Given the description of an element on the screen output the (x, y) to click on. 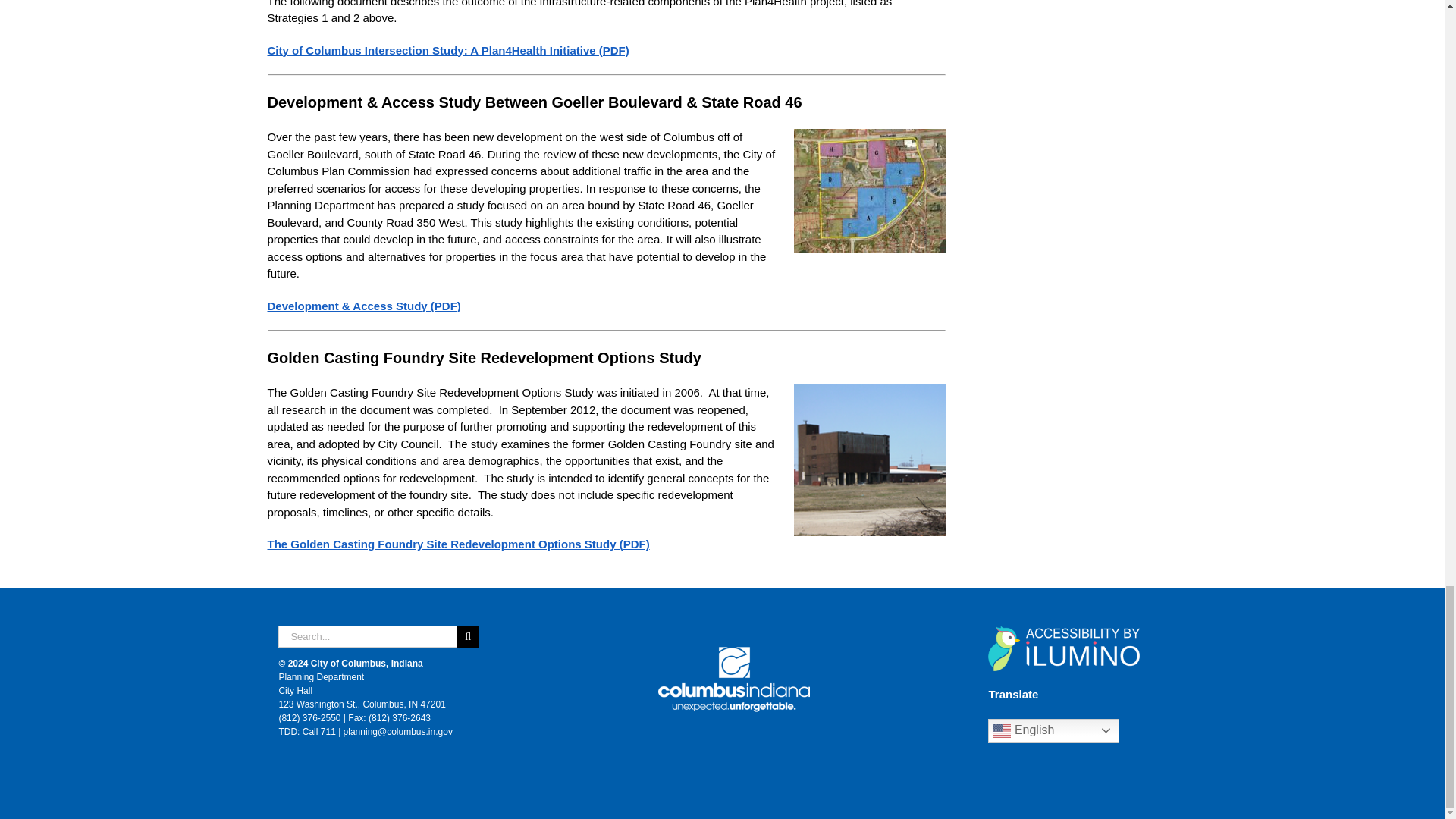
logo-white (733, 678)
